Given the description of an element on the screen output the (x, y) to click on. 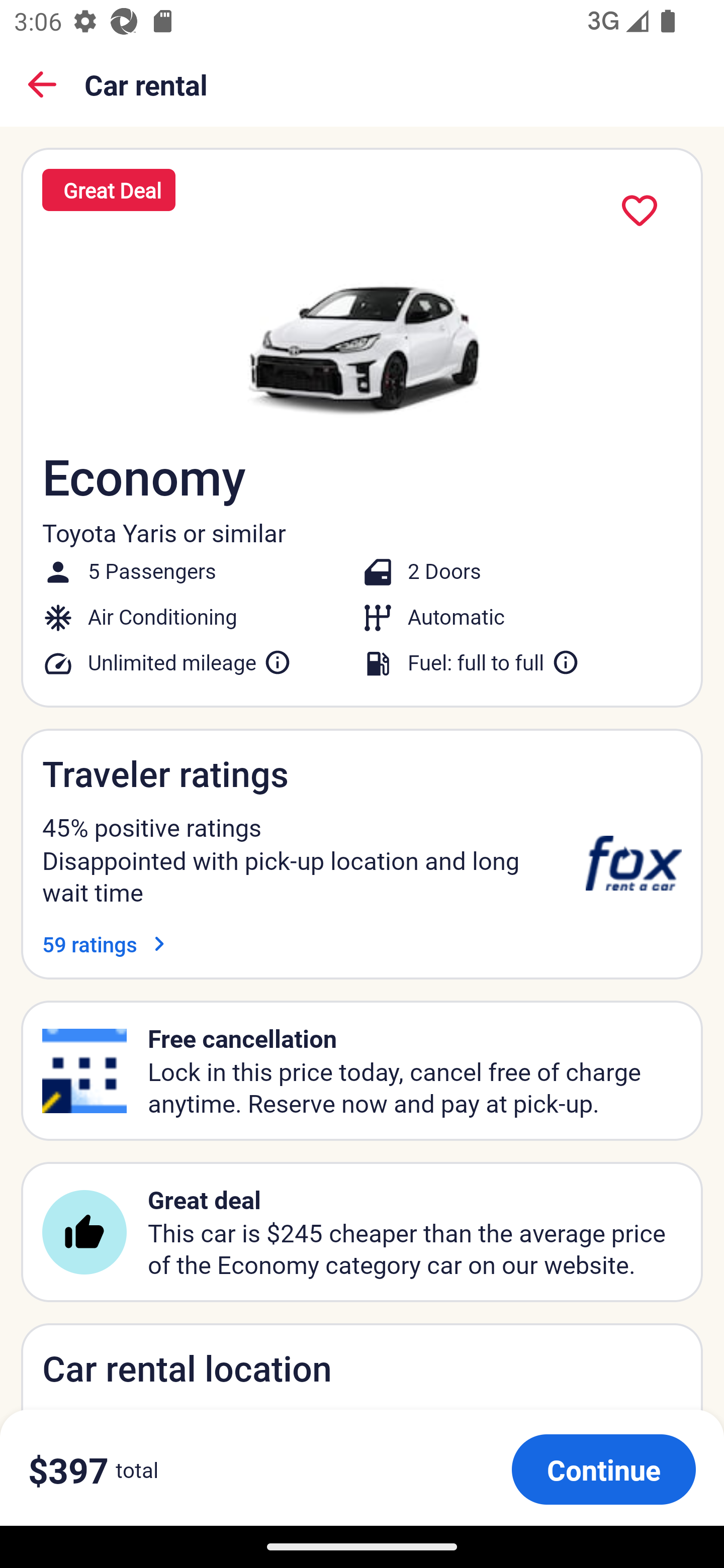
Go back to car rental search results (42, 84)
Save Economy from Fox to a trip (639, 211)
Unlimited mileage (189, 662)
Fuel: full to full (493, 662)
59 ratings 59 ratings Link (107, 943)
Continue (603, 1468)
